Given the description of an element on the screen output the (x, y) to click on. 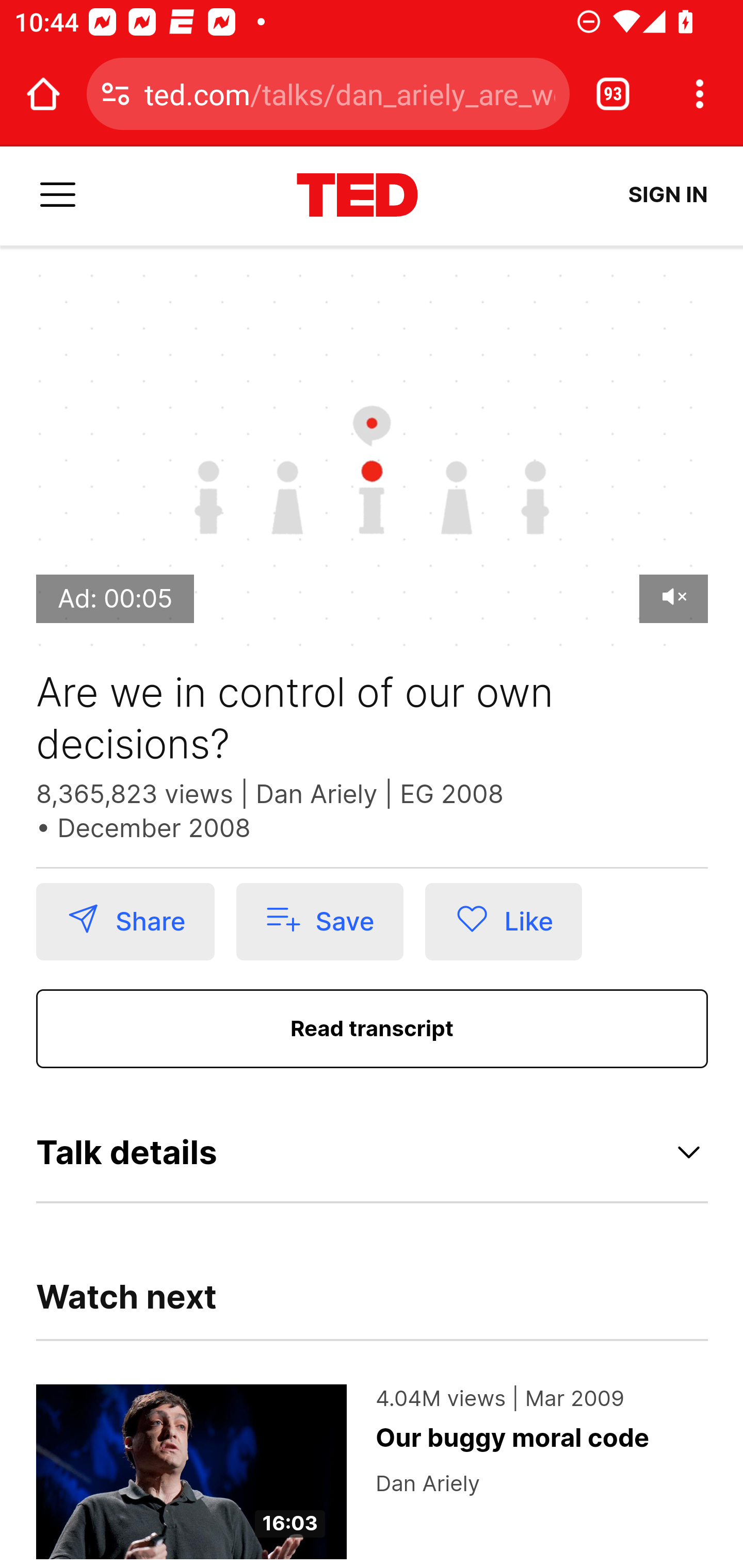
Open the home page (43, 93)
Connection is secure (115, 93)
Switch or close tabs (612, 93)
Customize and control Google Chrome (699, 93)
www.ted (357, 195)
Menu (57, 195)
SIGN IN (667, 194)
Play Video (372, 463)
Share (125, 921)
Save (319, 921)
Like (503, 921)
Read transcript (372, 1029)
Talk details (372, 1152)
Watch next (127, 1307)
